Given the description of an element on the screen output the (x, y) to click on. 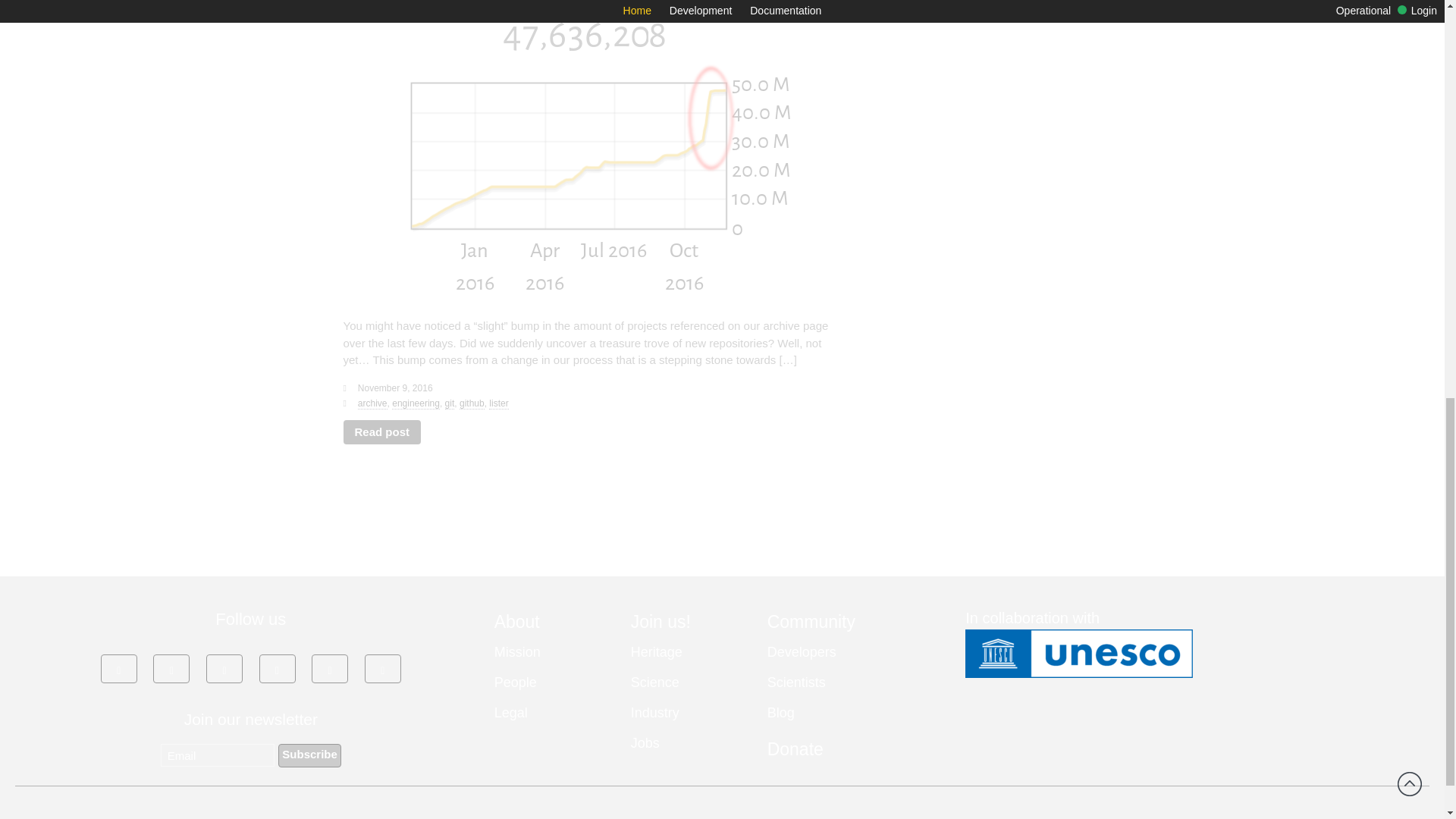
View all posts tagged lister (498, 403)
View all posts tagged github (472, 403)
Subscribe (309, 755)
View all posts tagged engineering (415, 403)
View all posts tagged archive (372, 403)
